Given the description of an element on the screen output the (x, y) to click on. 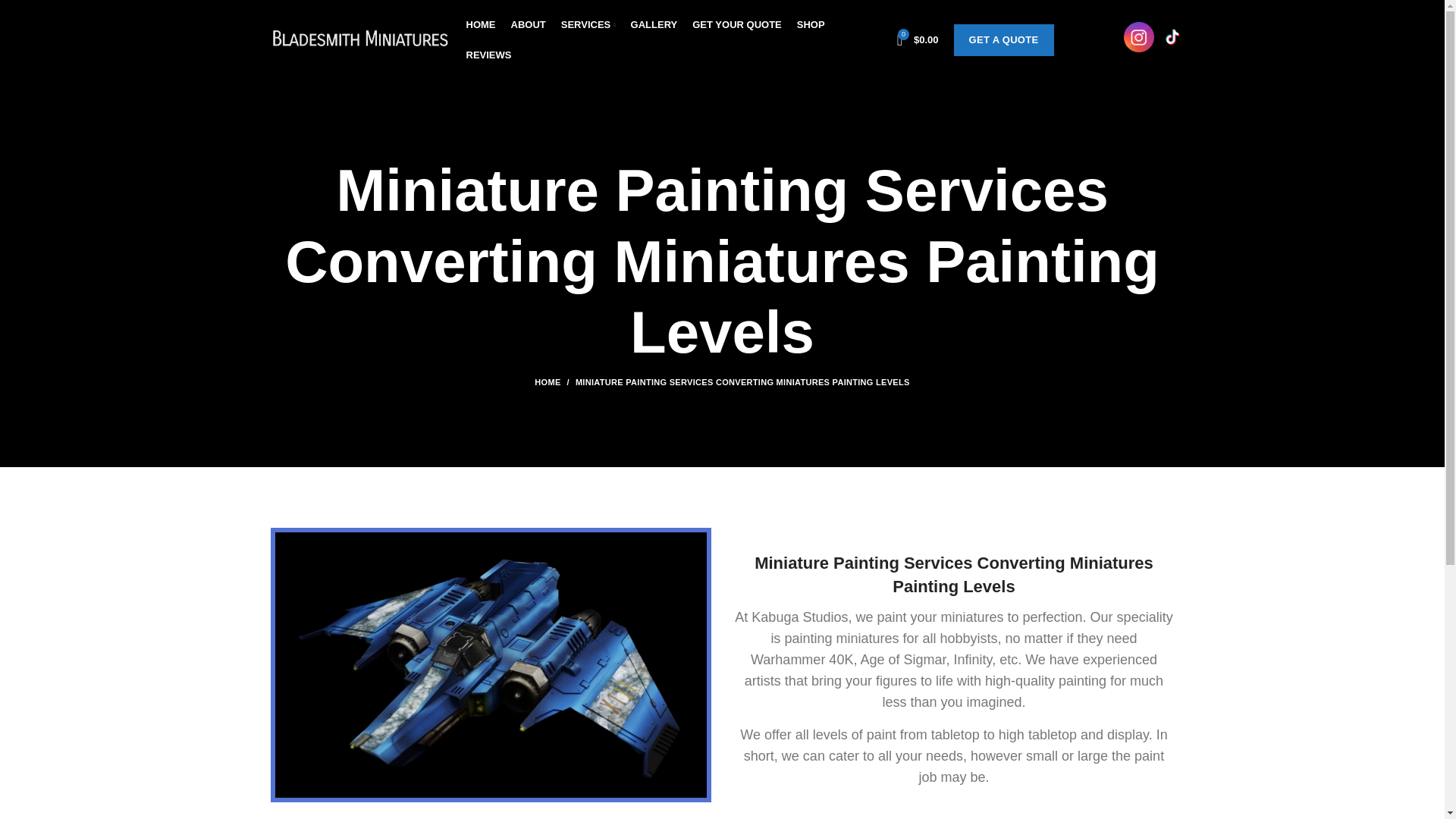
HOME (554, 381)
REVIEWS (488, 54)
HOME (480, 24)
SHOP (810, 24)
GALLERY (654, 24)
SERVICES (588, 24)
GET A QUOTE (1003, 40)
GET YOUR QUOTE (736, 24)
Shopping cart (917, 39)
Instagram (1139, 37)
ABOUT (528, 24)
